Given the description of an element on the screen output the (x, y) to click on. 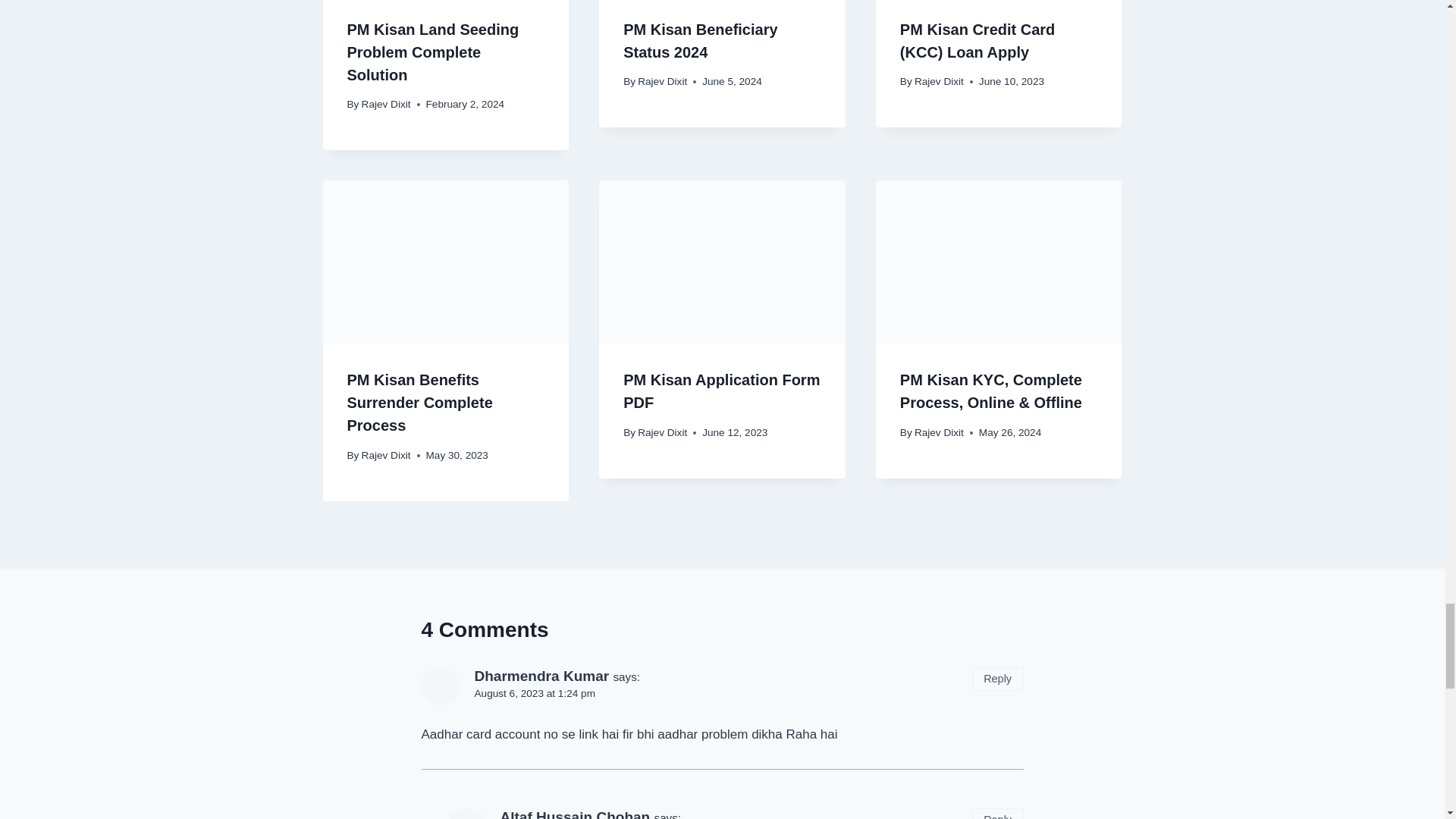
PM Kisan Land Seeding Problem Complete Solution (433, 52)
Rajev Dixit (938, 81)
PM Kisan Beneficiary Status 2024  (700, 40)
Rajev Dixit (385, 103)
Rajev Dixit (662, 81)
